Given the description of an element on the screen output the (x, y) to click on. 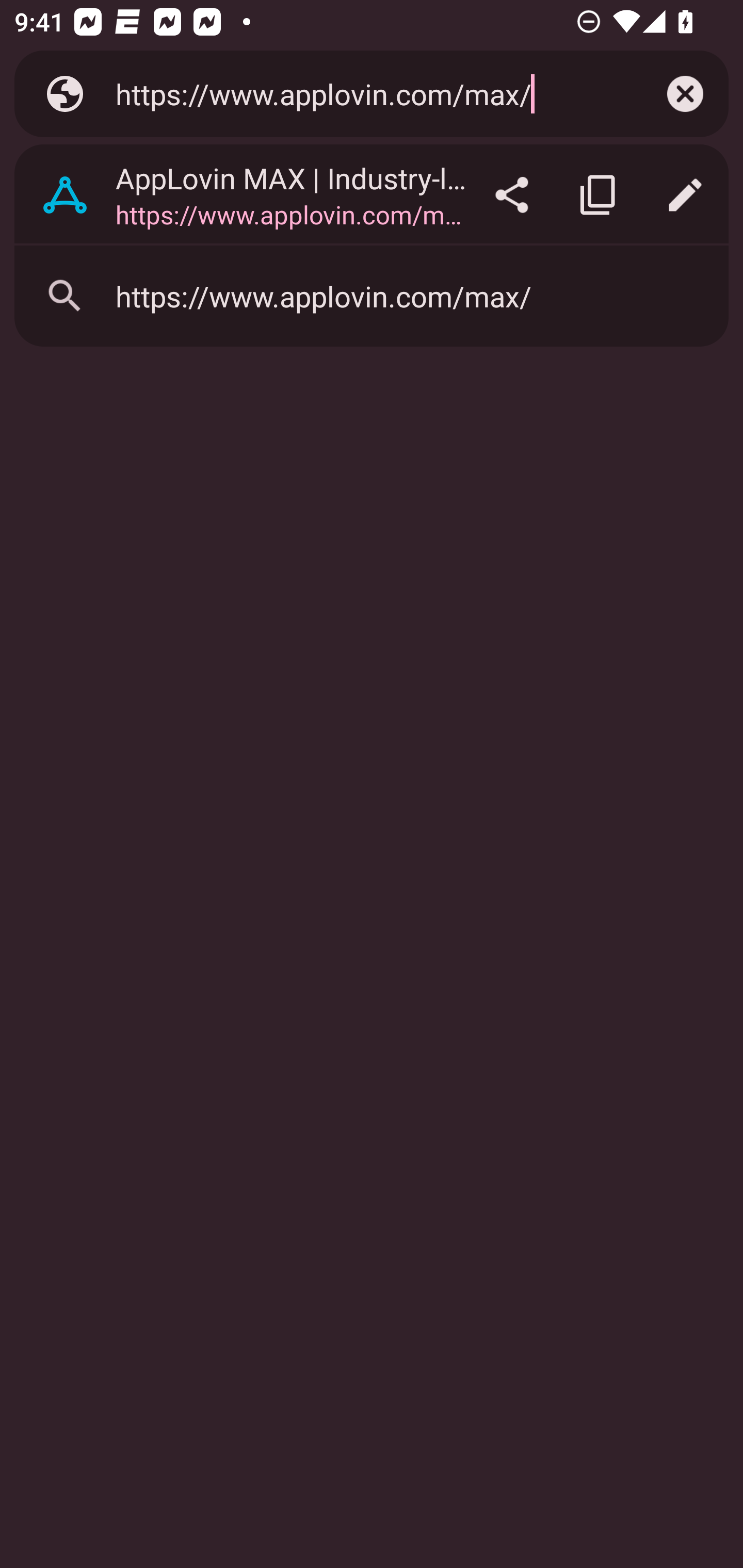
Clear input (684, 93)
https://www.applovin.com/max/ (367, 92)
Share… (511, 195)
Copy link (598, 195)
Edit (684, 195)
https://www.applovin.com/max/ (371, 296)
